Given the description of an element on the screen output the (x, y) to click on. 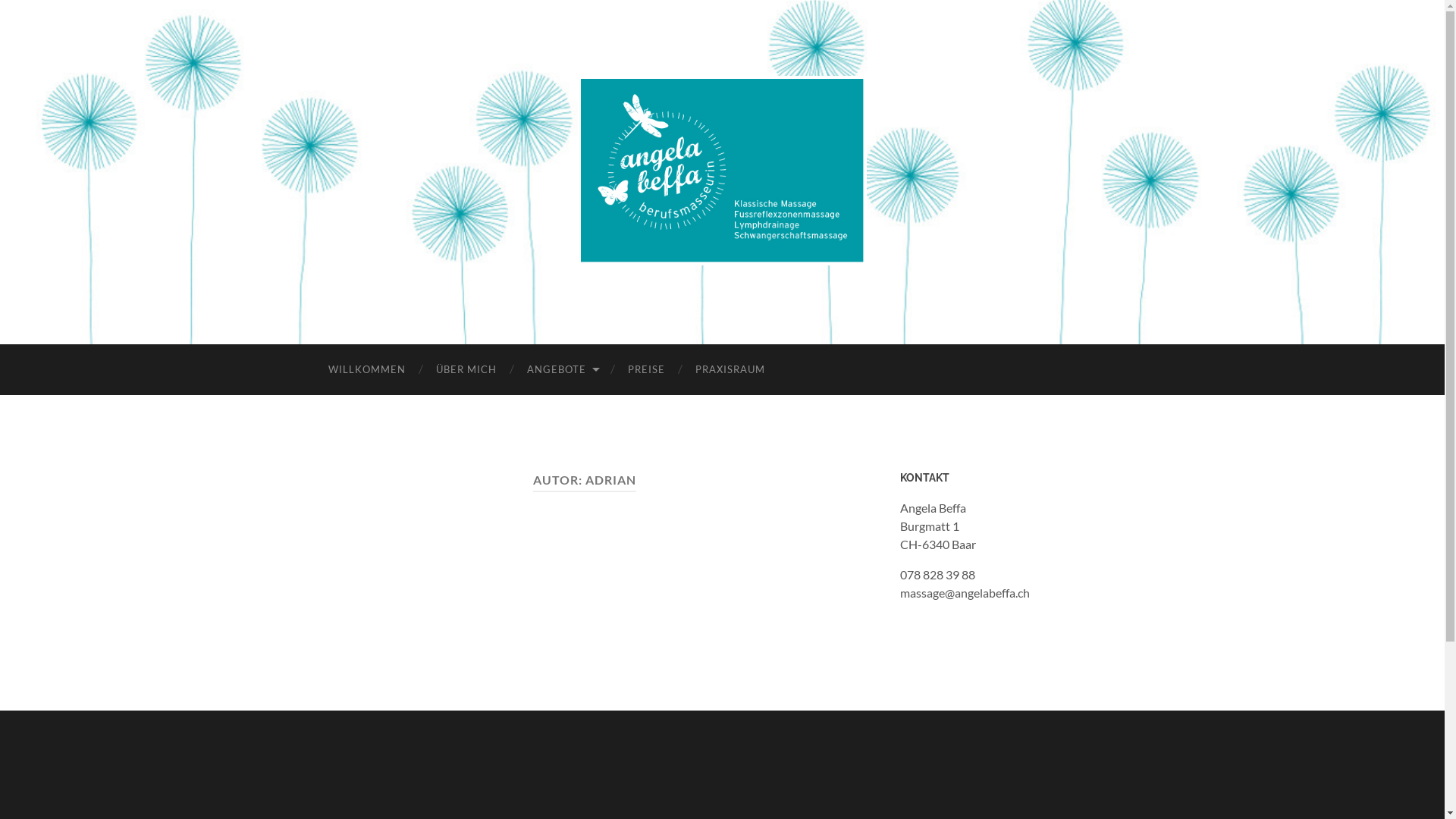
PREISE Element type: text (646, 369)
WILLKOMMEN Element type: text (366, 369)
Berufsmasseurin Angela Beffa Element type: text (722, 170)
PRAXISRAUM Element type: text (729, 369)
ANGEBOTE Element type: text (561, 369)
